Given the description of an element on the screen output the (x, y) to click on. 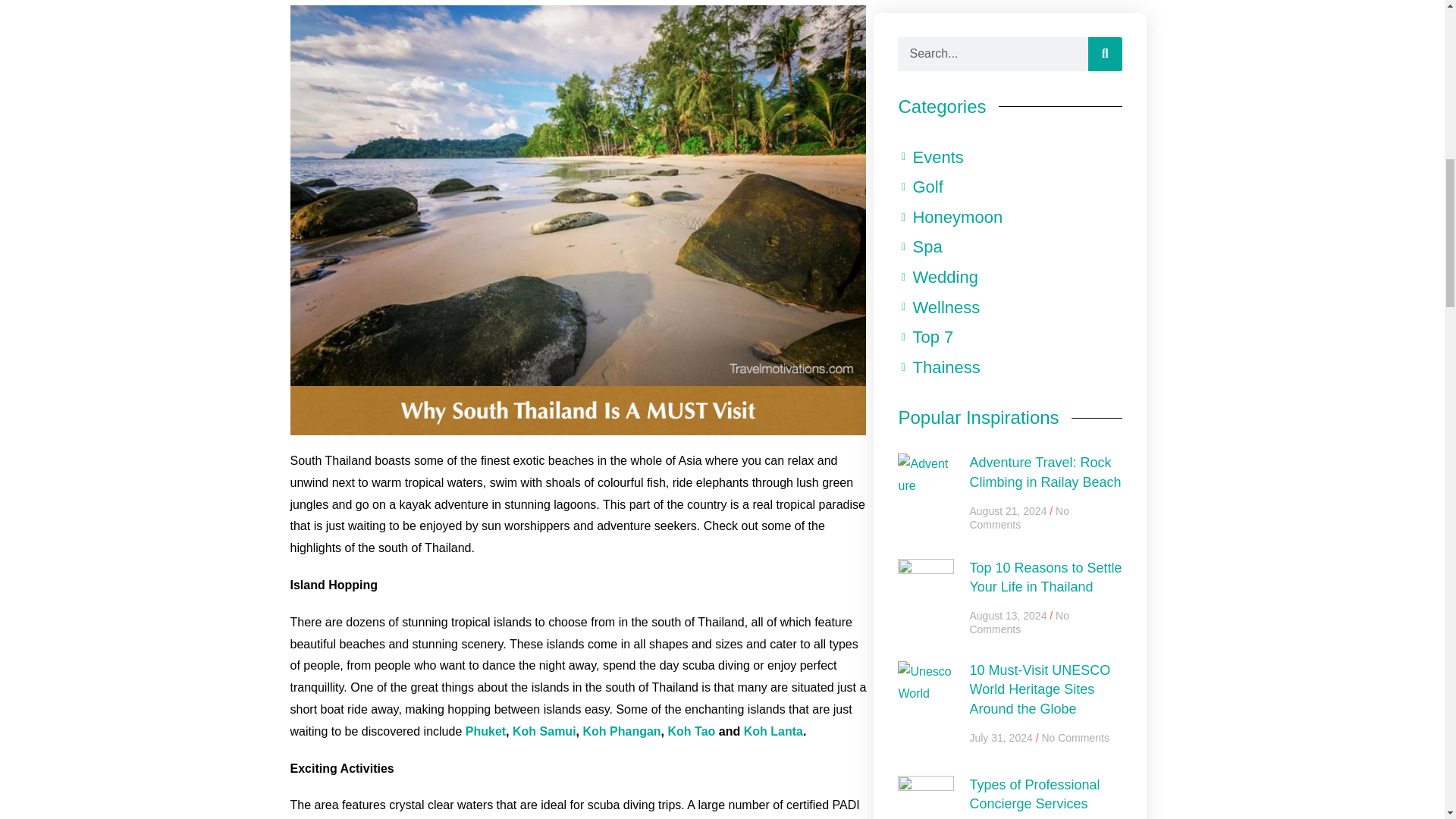
Koh Lanta (771, 730)
Koh Phangan (620, 730)
Phuket (483, 730)
Koh Tao (688, 730)
Koh Samui (542, 730)
